Given the description of an element on the screen output the (x, y) to click on. 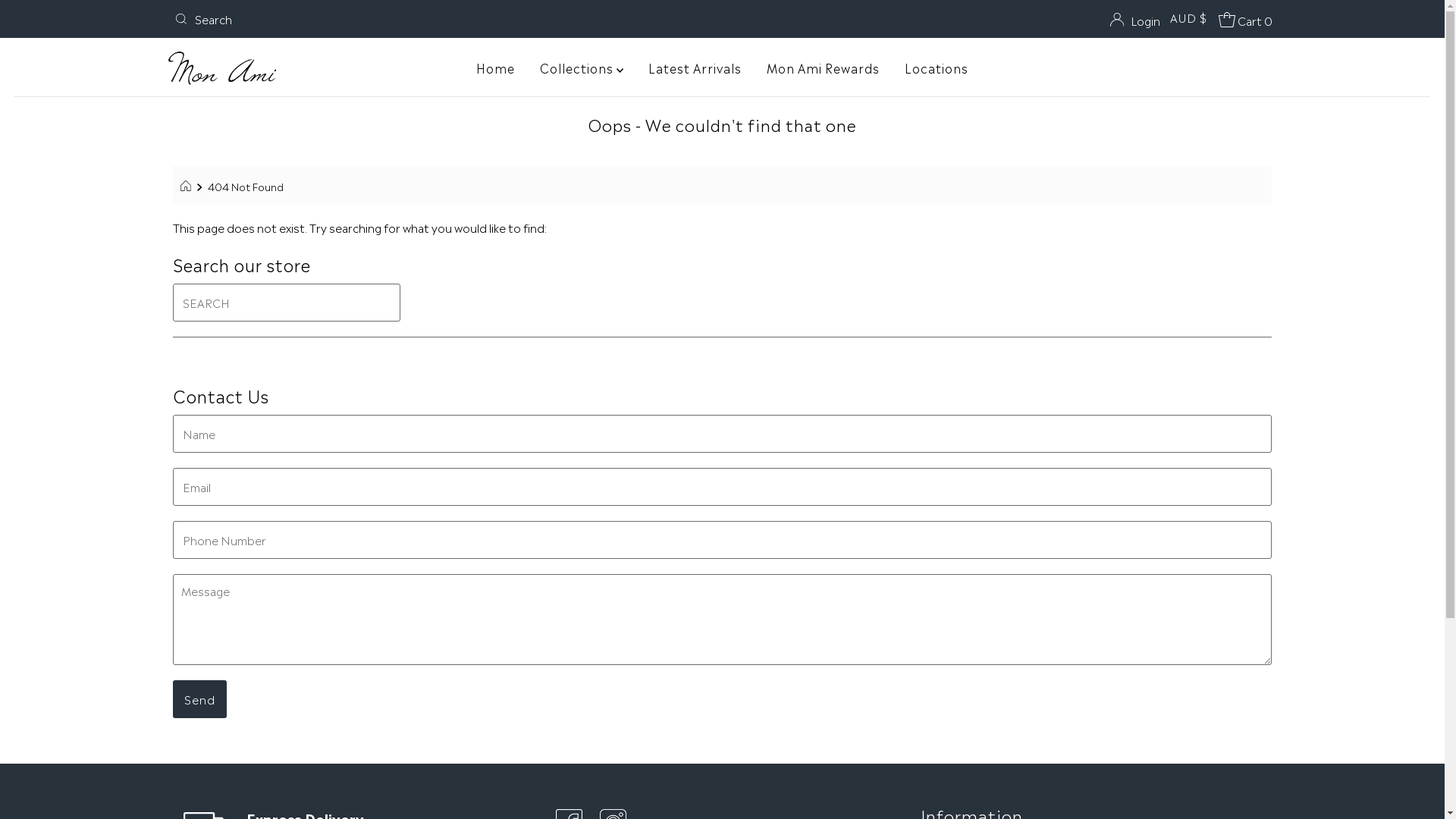
Mon Ami Rewards Element type: text (823, 67)
AUD $ Element type: text (1188, 17)
Locations Element type: text (936, 67)
Home Element type: text (495, 67)
Latest Arrivals Element type: text (695, 67)
Send Element type: text (199, 699)
